Given the description of an element on the screen output the (x, y) to click on. 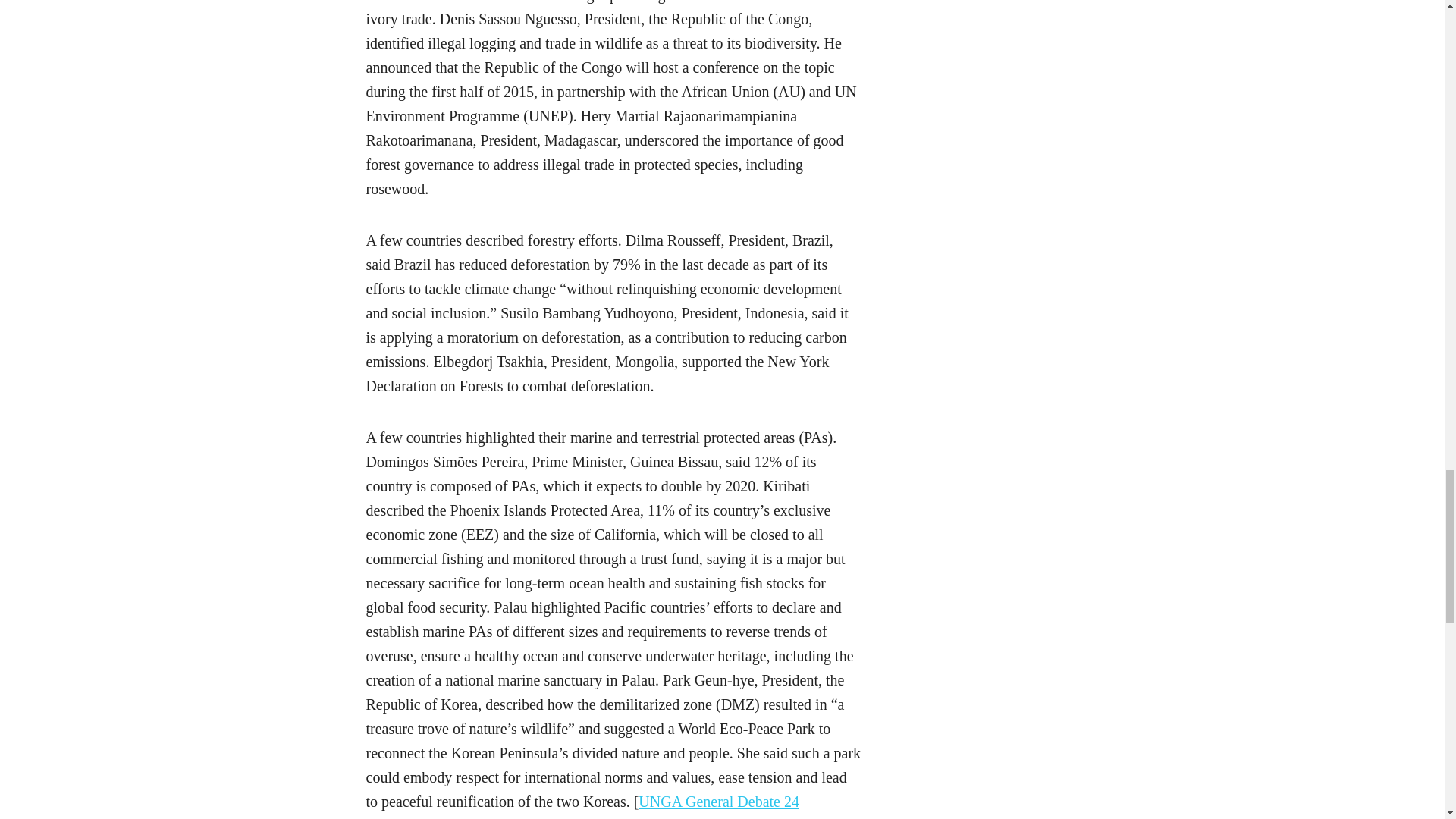
UNGA General Debate 24 September 2014 (581, 806)
